Given the description of an element on the screen output the (x, y) to click on. 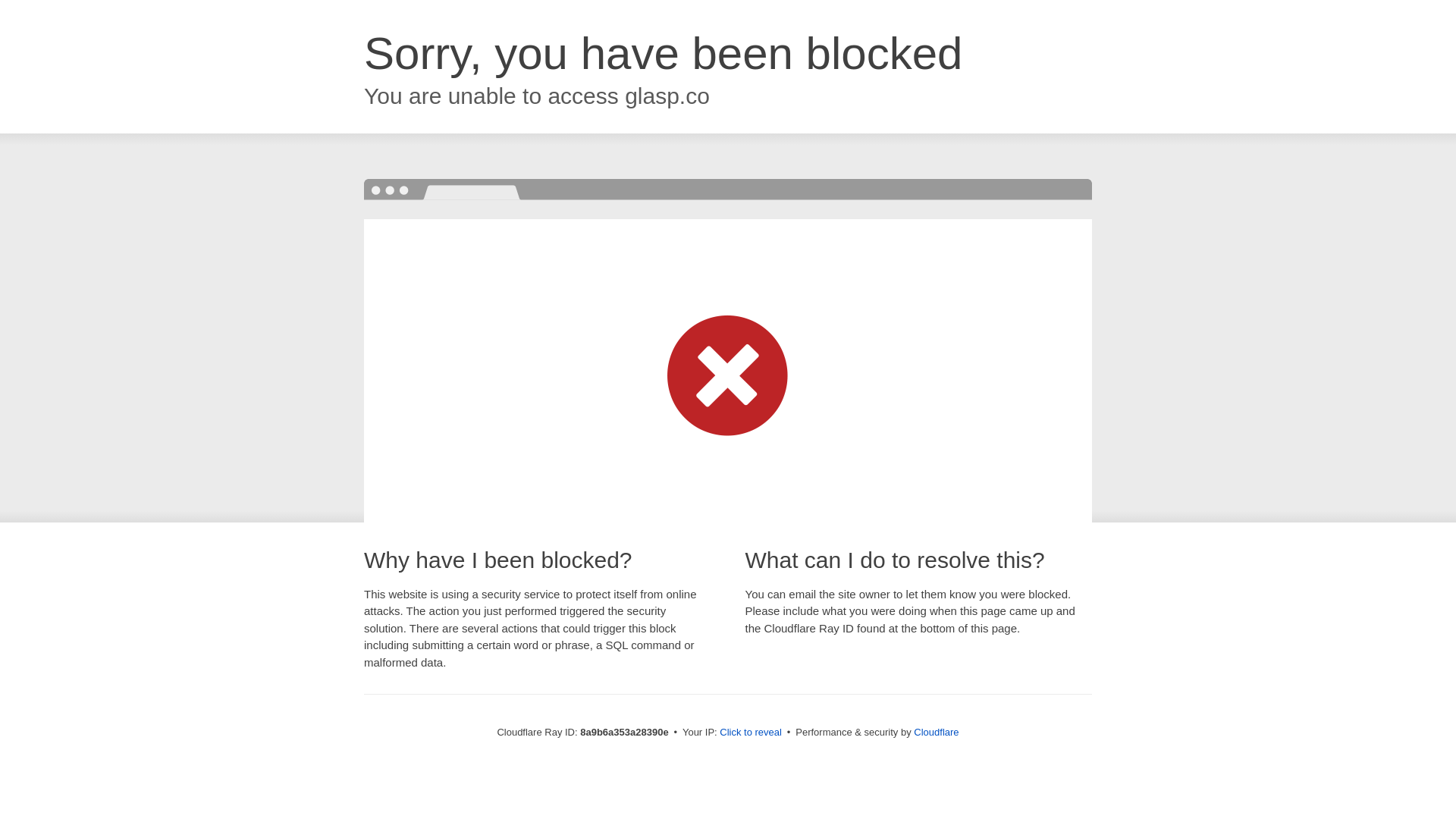
Click to reveal (750, 732)
Cloudflare (936, 731)
